Given the description of an element on the screen output the (x, y) to click on. 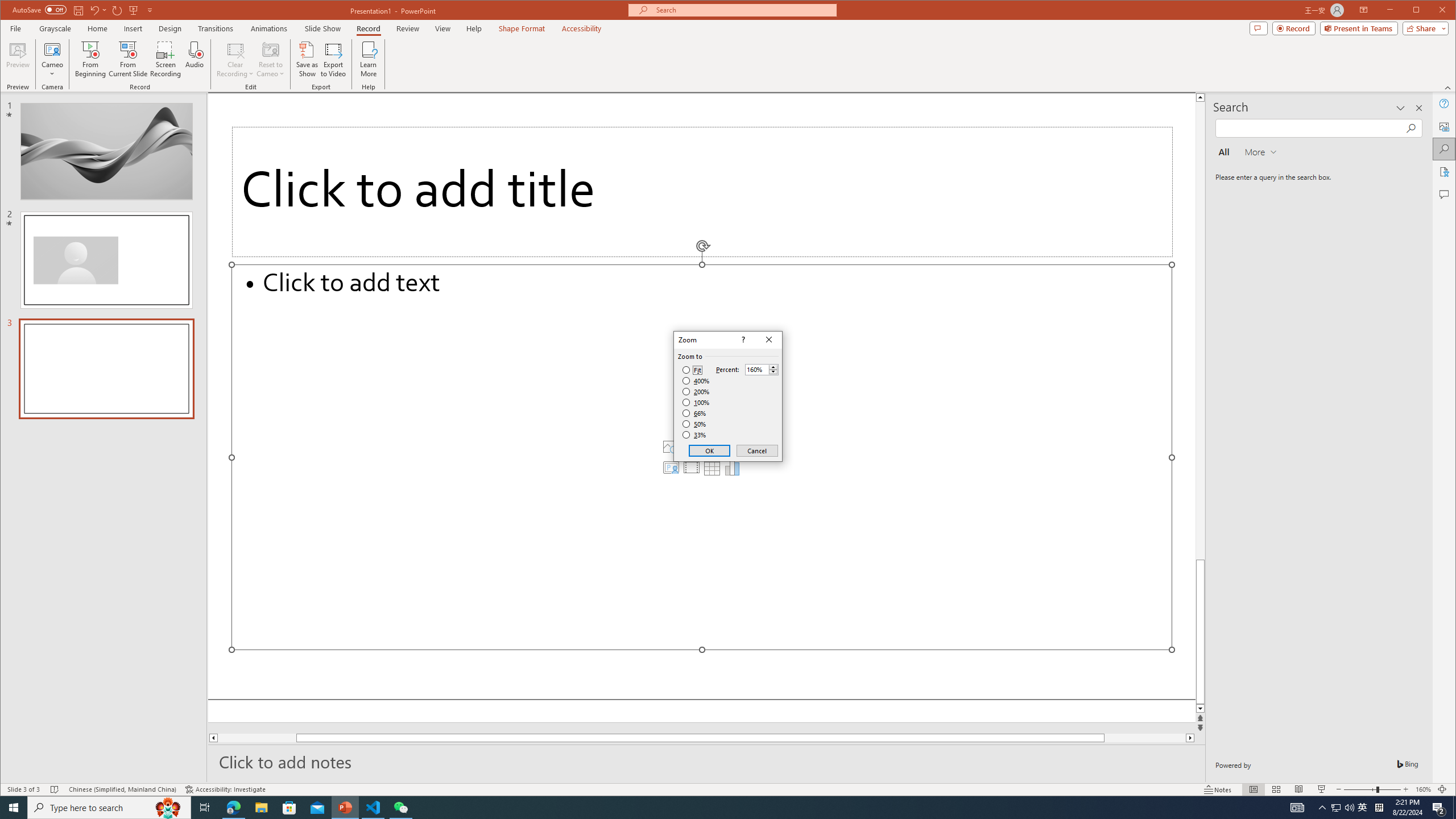
Alt Text (1444, 125)
From Beginning... (90, 59)
400% (696, 380)
